Given the description of an element on the screen output the (x, y) to click on. 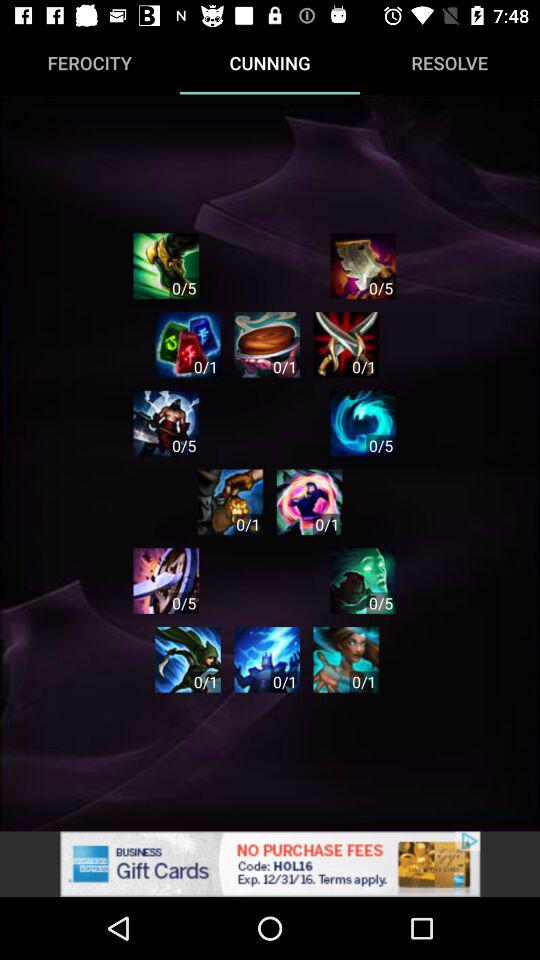
click to the app (363, 265)
